Given the description of an element on the screen output the (x, y) to click on. 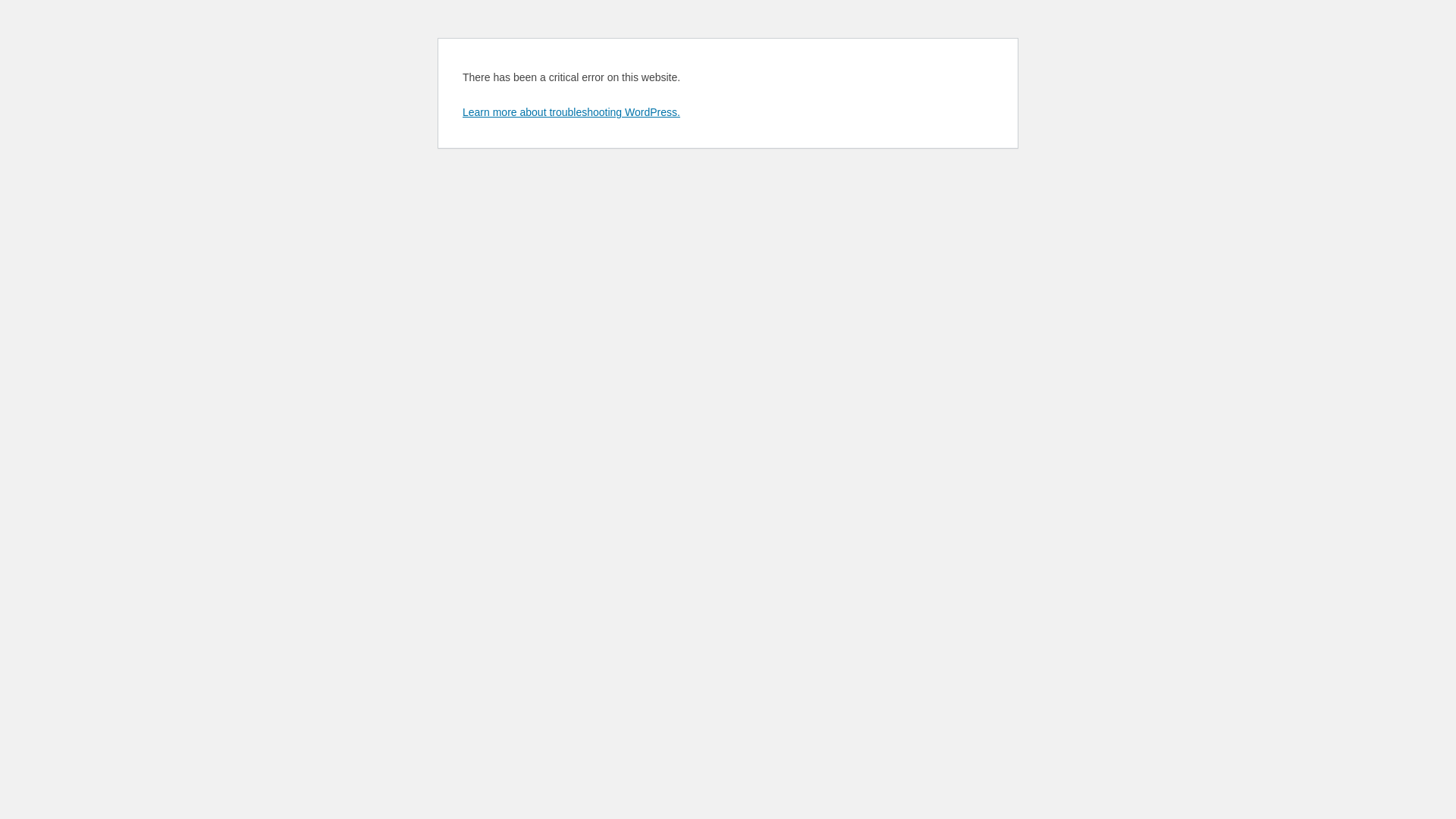
Learn more about troubleshooting WordPress. Element type: text (571, 112)
